Given the description of an element on the screen output the (x, y) to click on. 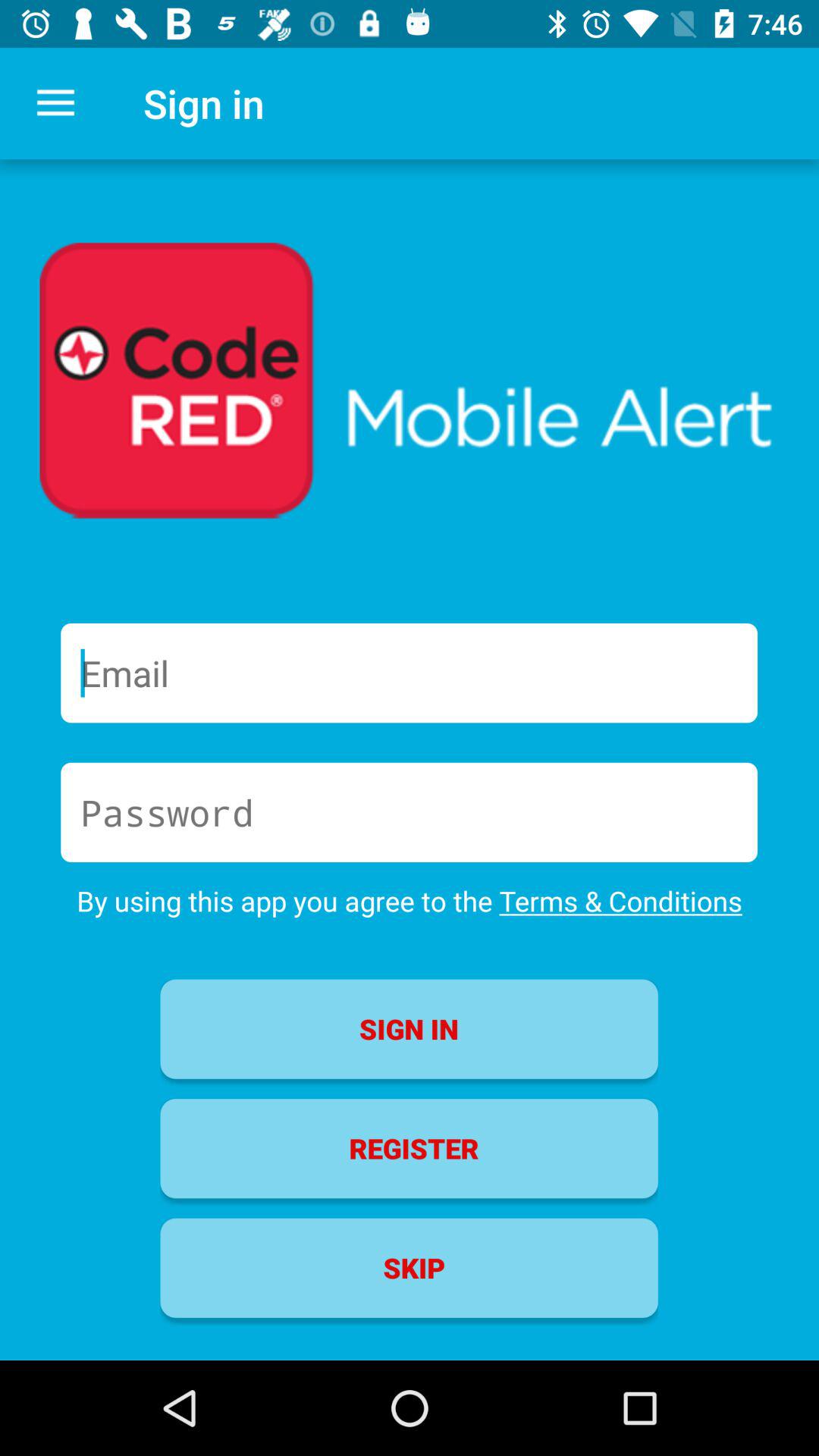
enter email (408, 672)
